Given the description of an element on the screen output the (x, y) to click on. 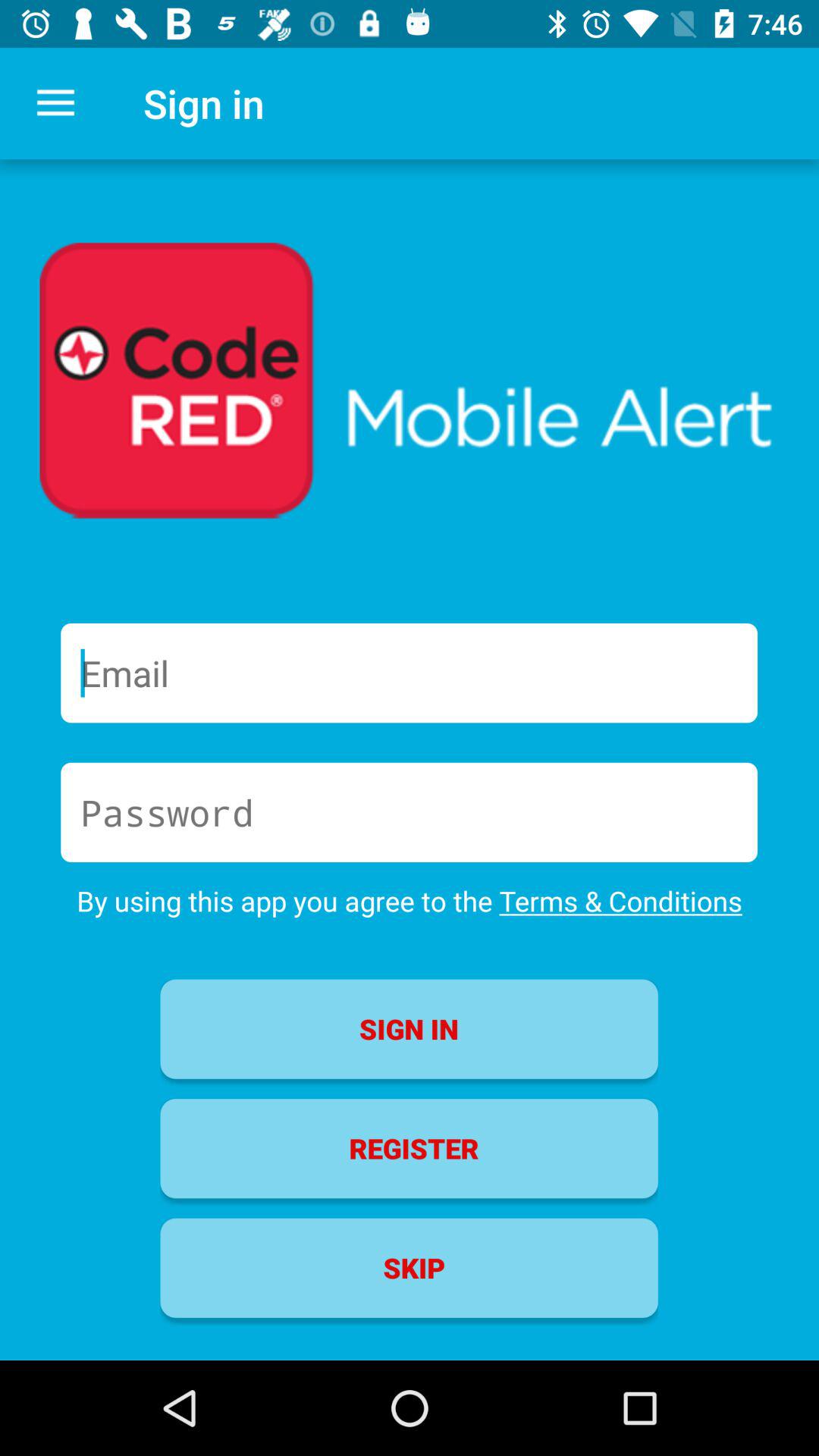
enter email (408, 672)
